Given the description of an element on the screen output the (x, y) to click on. 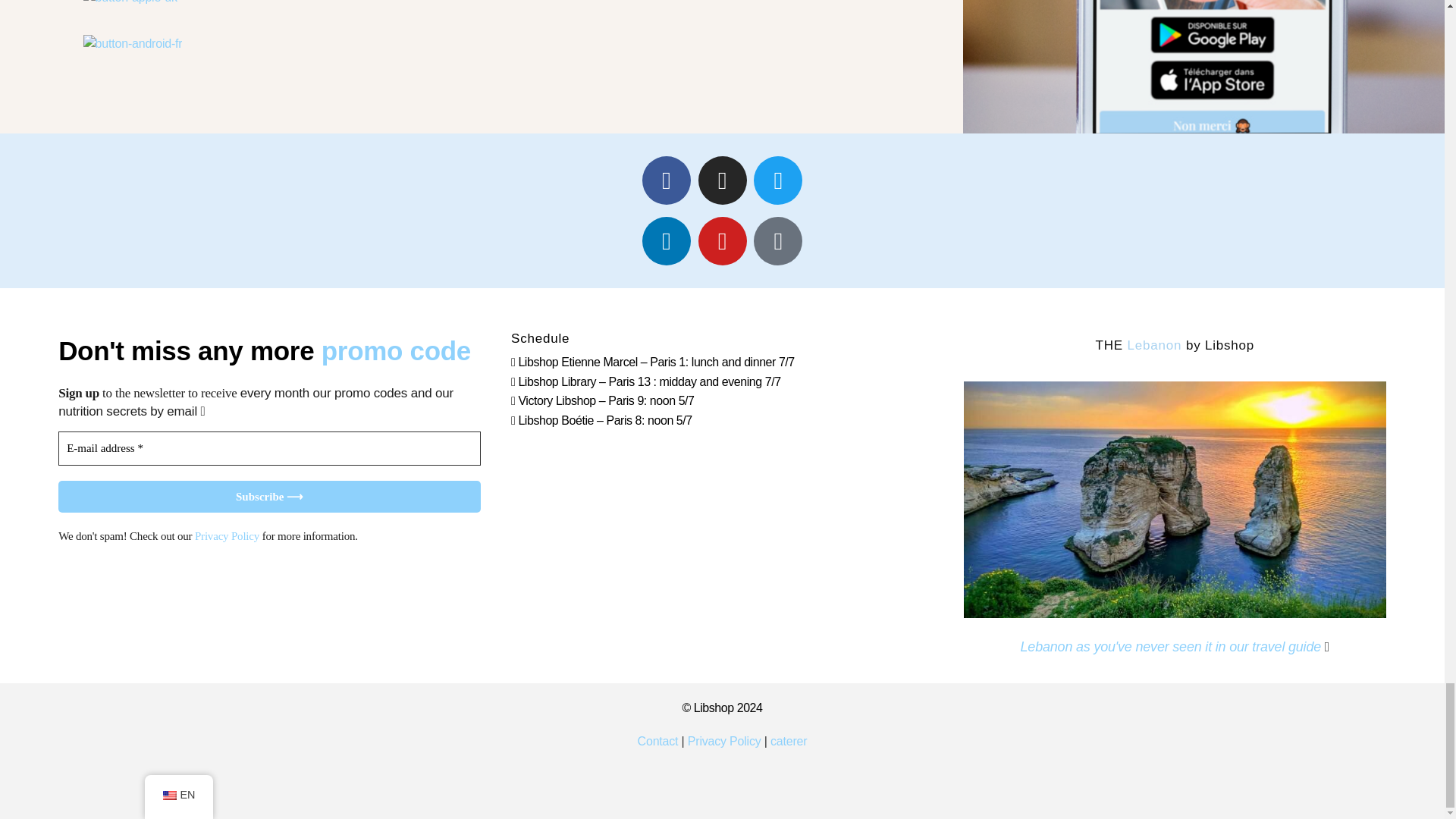
E-mail address (269, 448)
button-apple-uk (129, 3)
button-android-fr (132, 44)
